Given the description of an element on the screen output the (x, y) to click on. 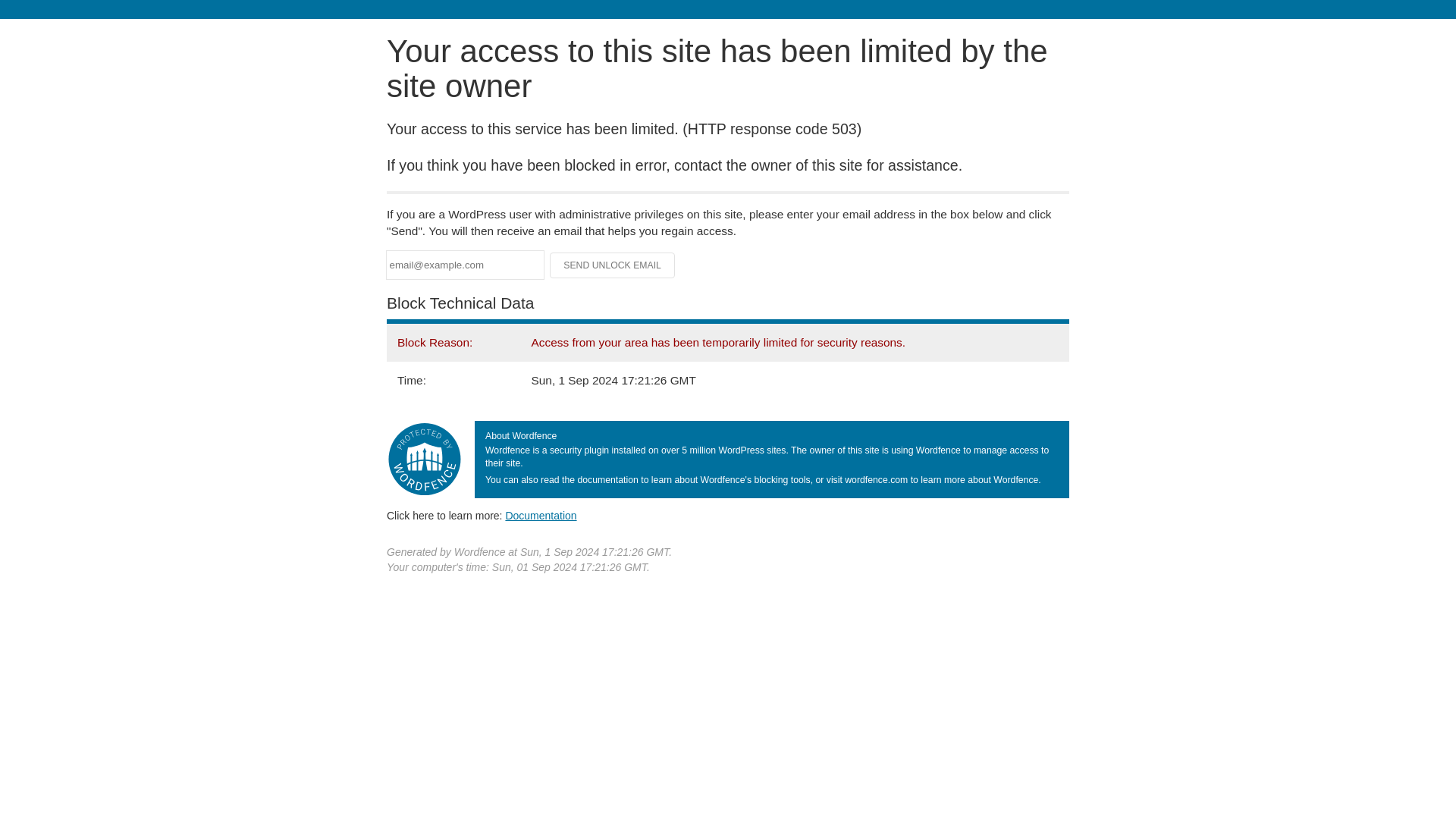
Documentation (540, 515)
Send Unlock Email (612, 265)
Send Unlock Email (612, 265)
